Given the description of an element on the screen output the (x, y) to click on. 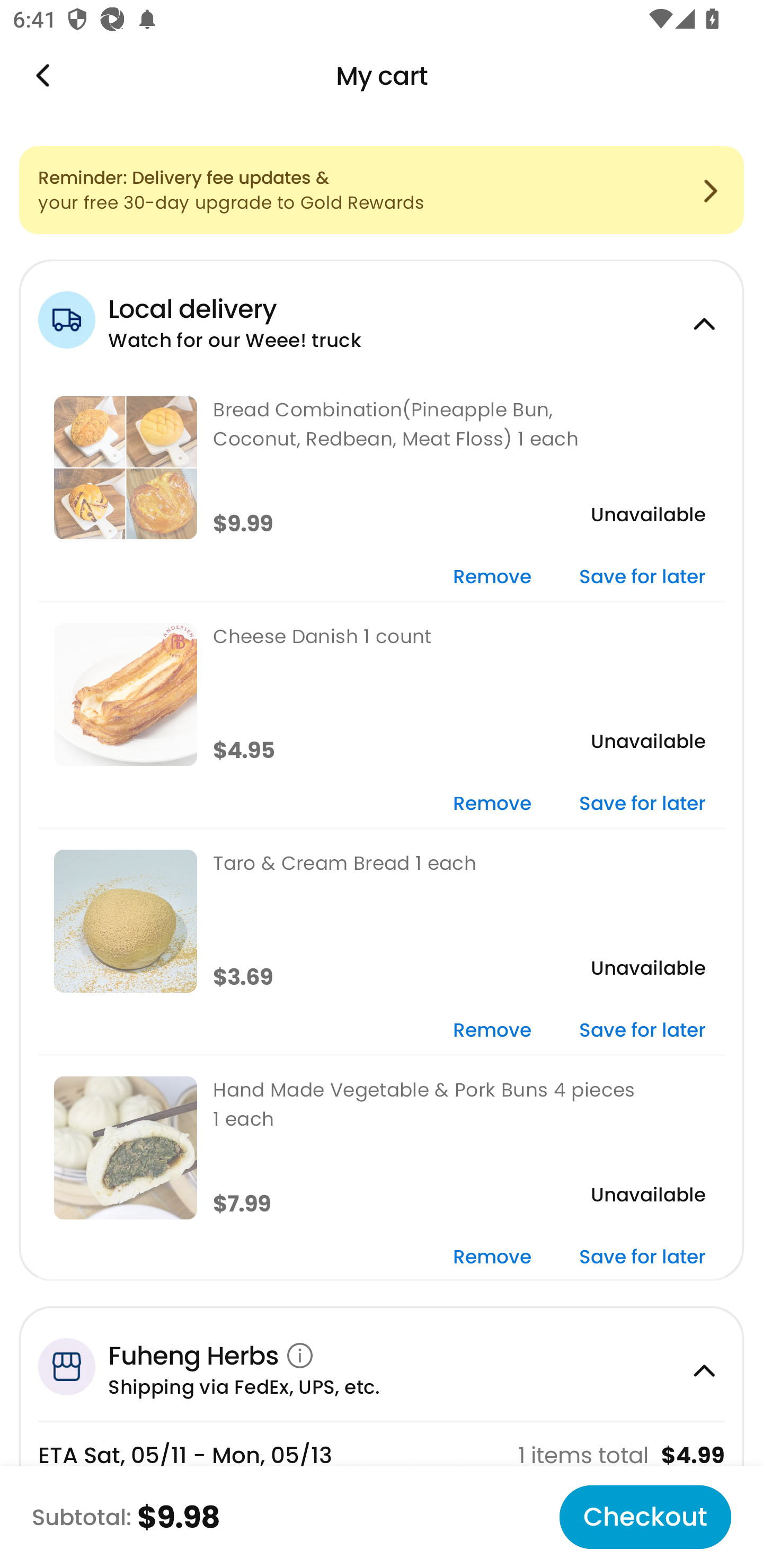
Local delivery Watch for our Weee! truck (381, 317)
Remove (491, 577)
Save for later (642, 577)
Remove (491, 804)
Save for later (642, 804)
Remove (491, 1030)
Save for later (642, 1030)
Remove (491, 1258)
Save for later (642, 1258)
Fuheng Herbs Shipping via FedEx, UPS, etc. (381, 1363)
Checkout (644, 1516)
